Given the description of an element on the screen output the (x, y) to click on. 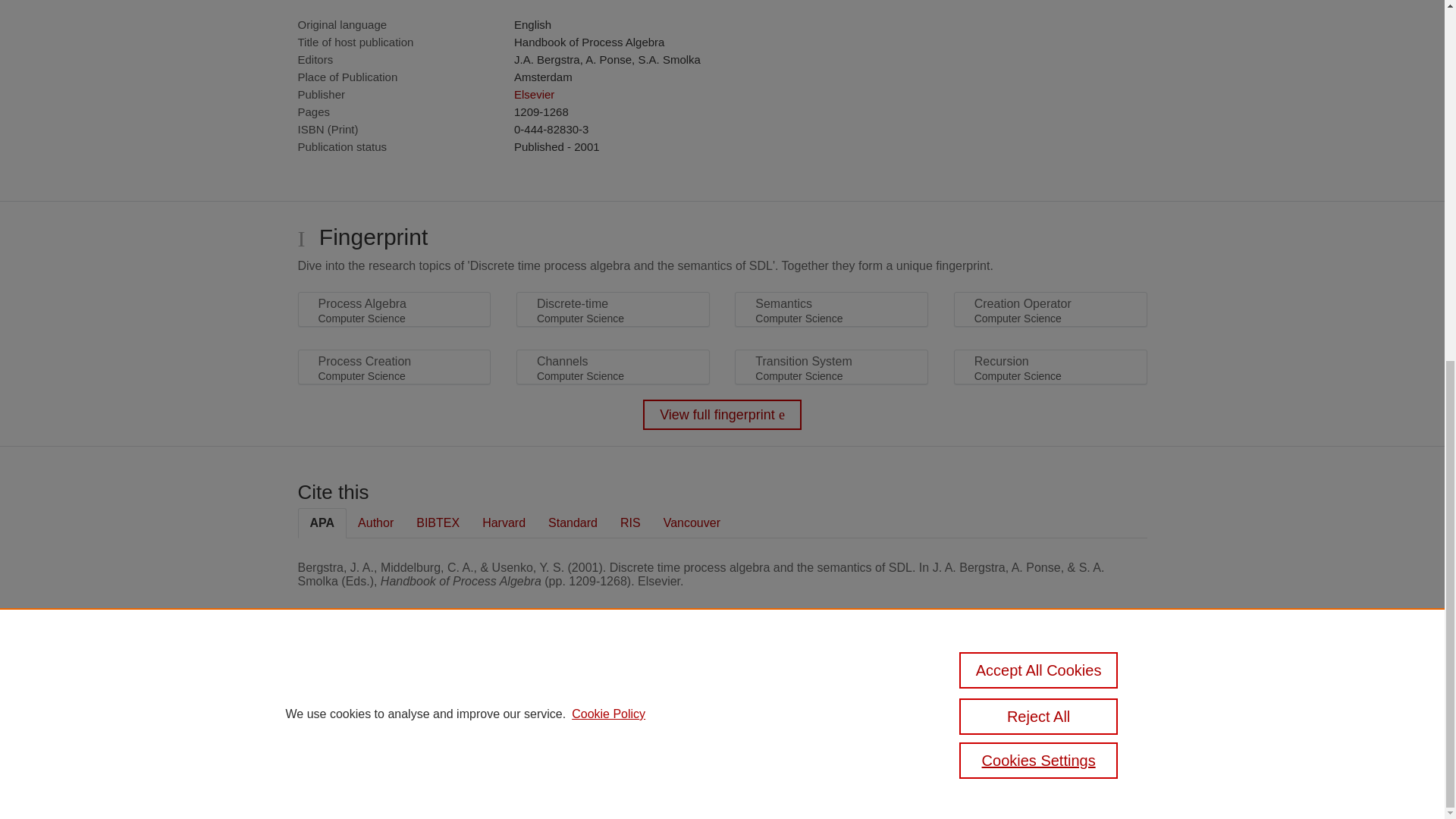
Scopus (394, 686)
Elsevier (533, 93)
View full fingerprint (722, 414)
Pure (362, 686)
Elsevier B.V. (506, 707)
